Given the description of an element on the screen output the (x, y) to click on. 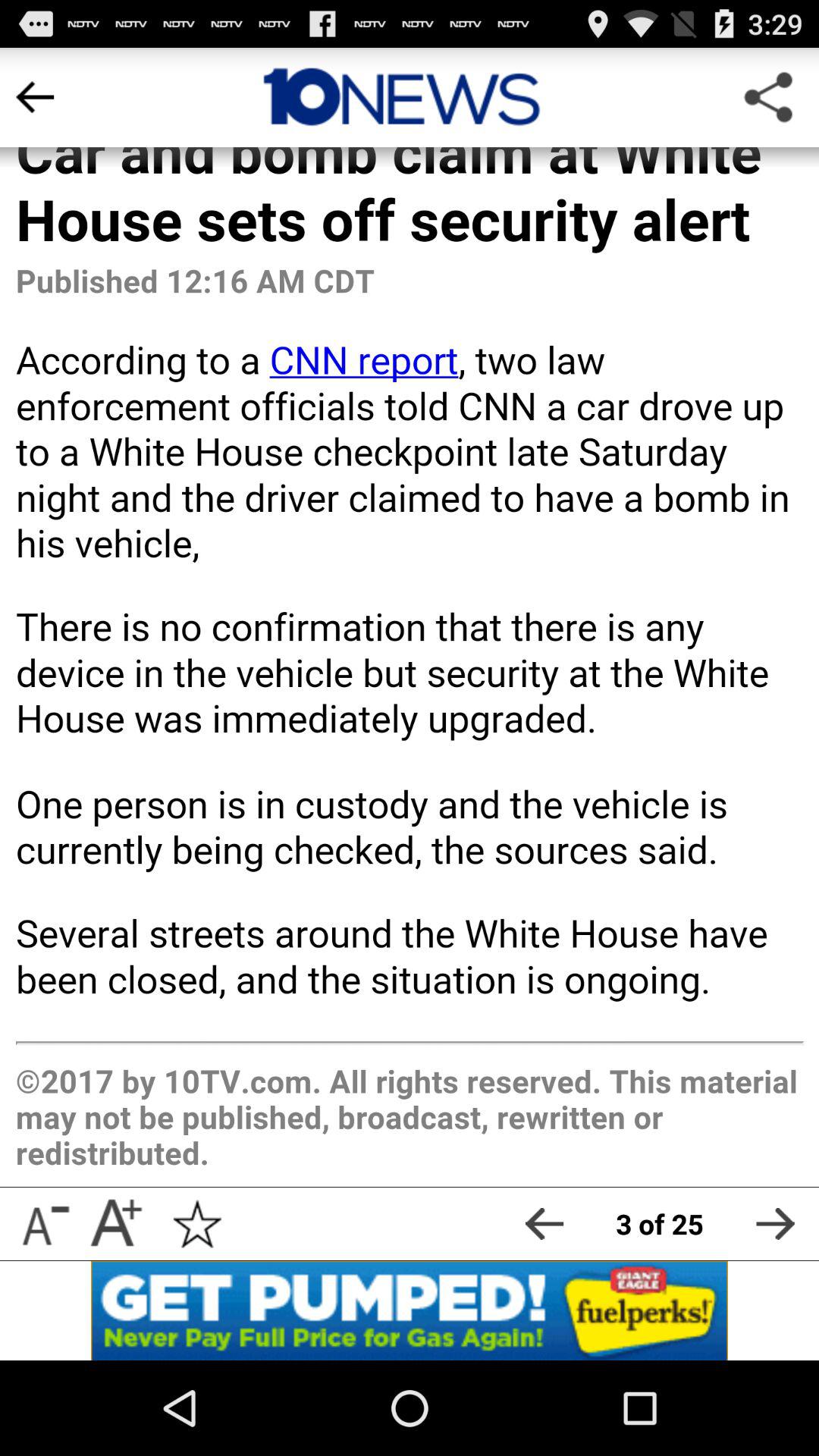
app body (409, 616)
